Given the description of an element on the screen output the (x, y) to click on. 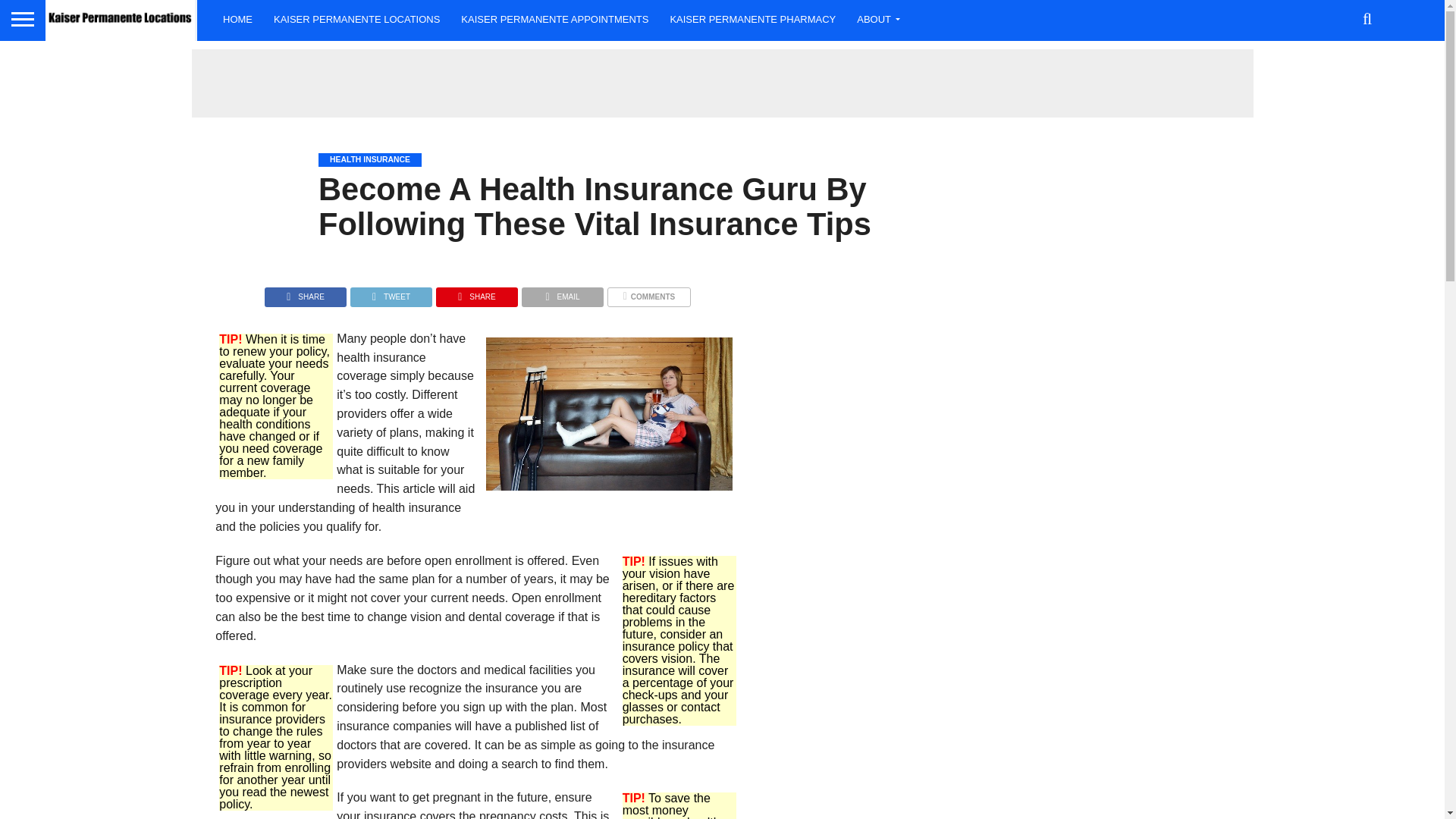
KAISER PERMANENTE APPOINTMENTS (554, 18)
HOME (237, 18)
SHARE (305, 292)
COMMENTS (648, 292)
Pin This Post (476, 292)
ABOUT (874, 18)
EMAIL (562, 292)
KAISER PERMANENTE PHARMACY (752, 18)
SHARE (476, 292)
KAISER PERMANENTE LOCATIONS (356, 18)
